Given the description of an element on the screen output the (x, y) to click on. 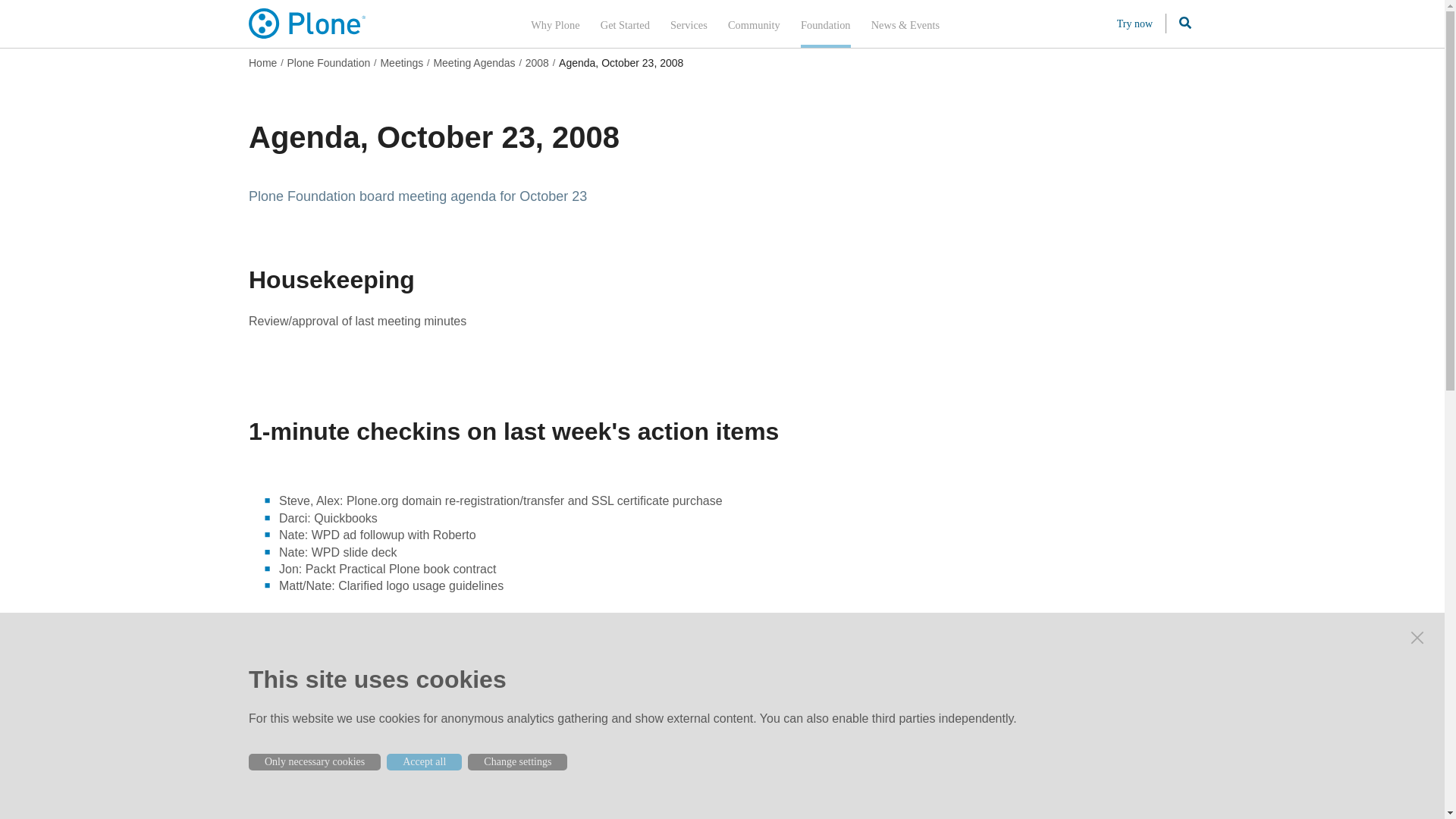
Get Started (624, 23)
Why Plone (555, 23)
Plone.org (307, 23)
Foundation (825, 23)
Home (262, 62)
Community (754, 23)
